Given the description of an element on the screen output the (x, y) to click on. 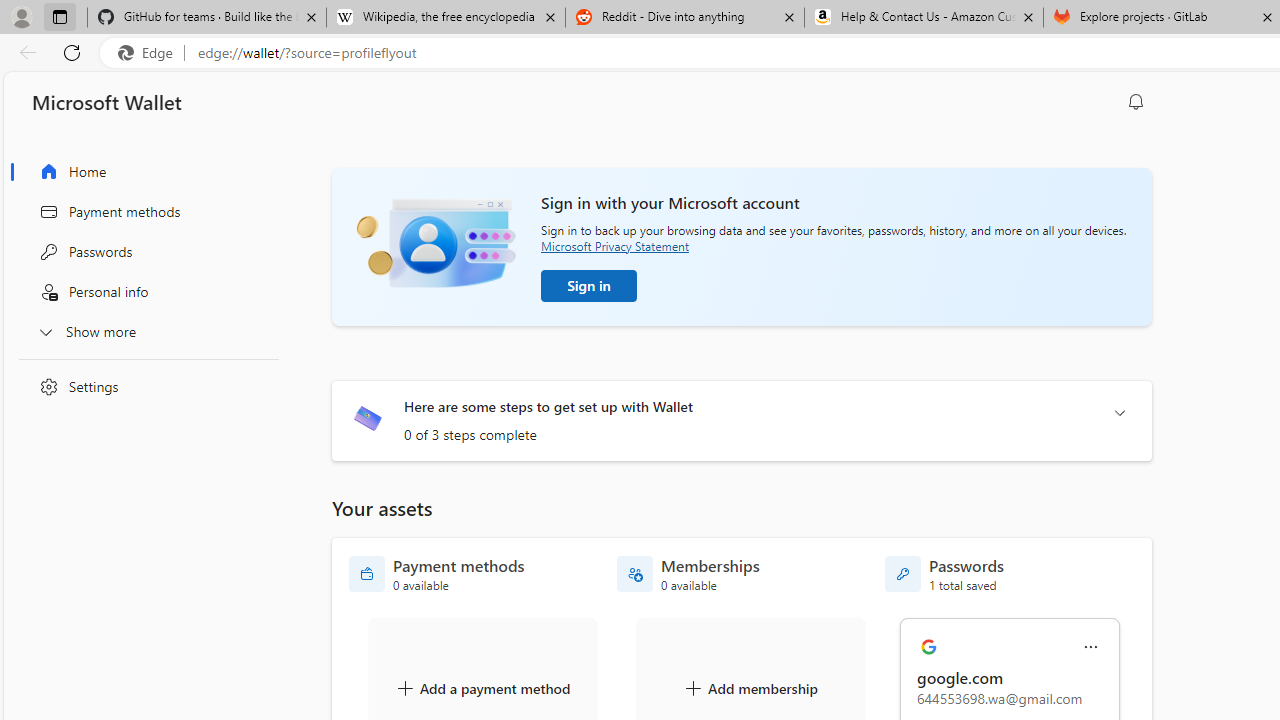
Personal info (143, 292)
Show more (143, 331)
More actions (1091, 647)
Wikipedia, the free encyclopedia (445, 17)
Microsoft Privacy Statement (614, 246)
Payment methods - 0 available (437, 573)
Notification (1136, 101)
Payment methods (143, 211)
Memberships - 0 available (688, 573)
